Given the description of an element on the screen output the (x, y) to click on. 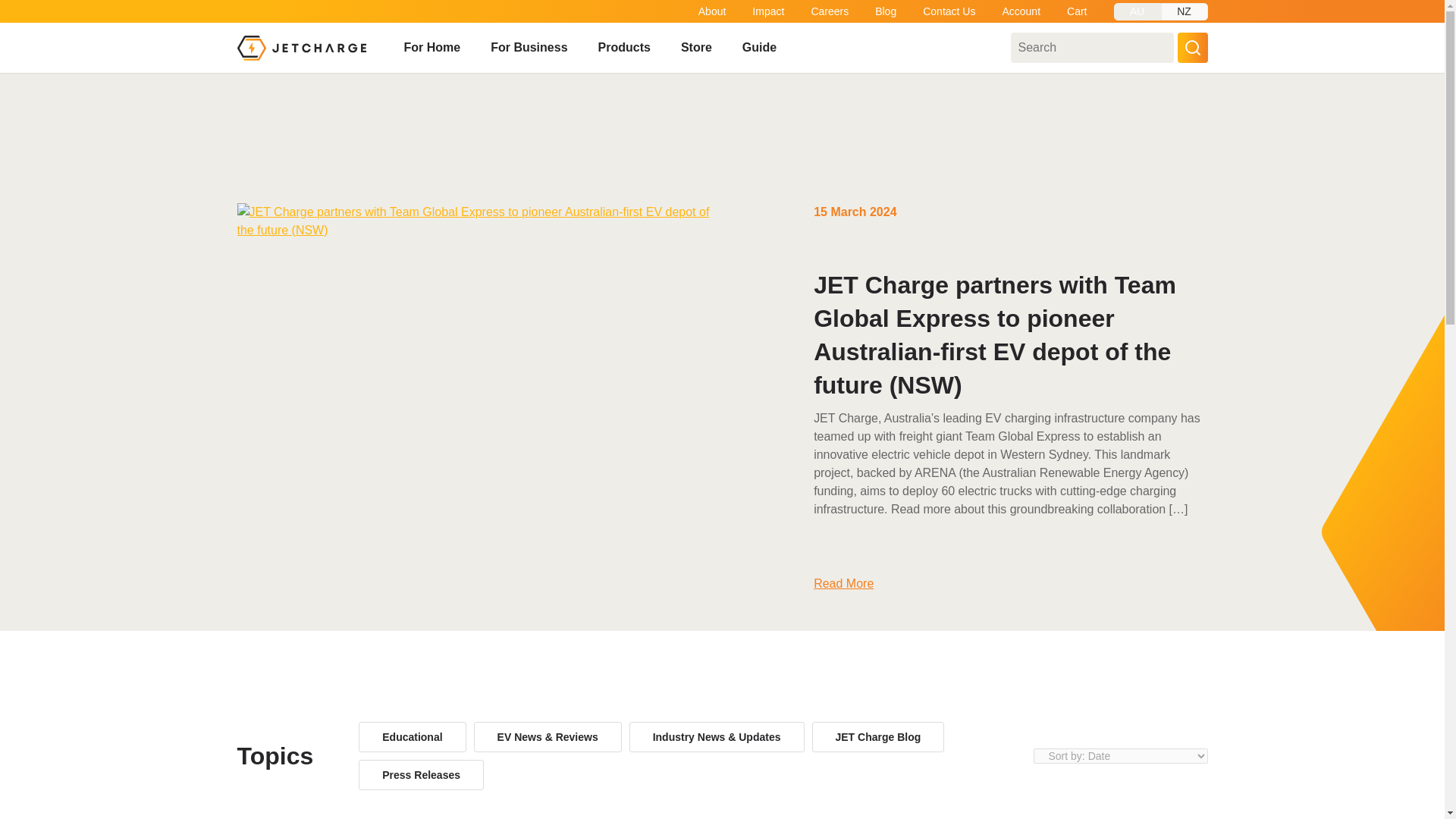
JET Charge Homepage (300, 47)
About (712, 10)
Store (696, 47)
For Business (528, 47)
Impact (768, 10)
Cart (1076, 10)
Contact Us (949, 10)
NZ (1183, 11)
For Home (431, 47)
Careers (829, 10)
Products (624, 47)
AU (1136, 11)
Blog (885, 10)
Account (1021, 10)
Guide (759, 47)
